Given the description of an element on the screen output the (x, y) to click on. 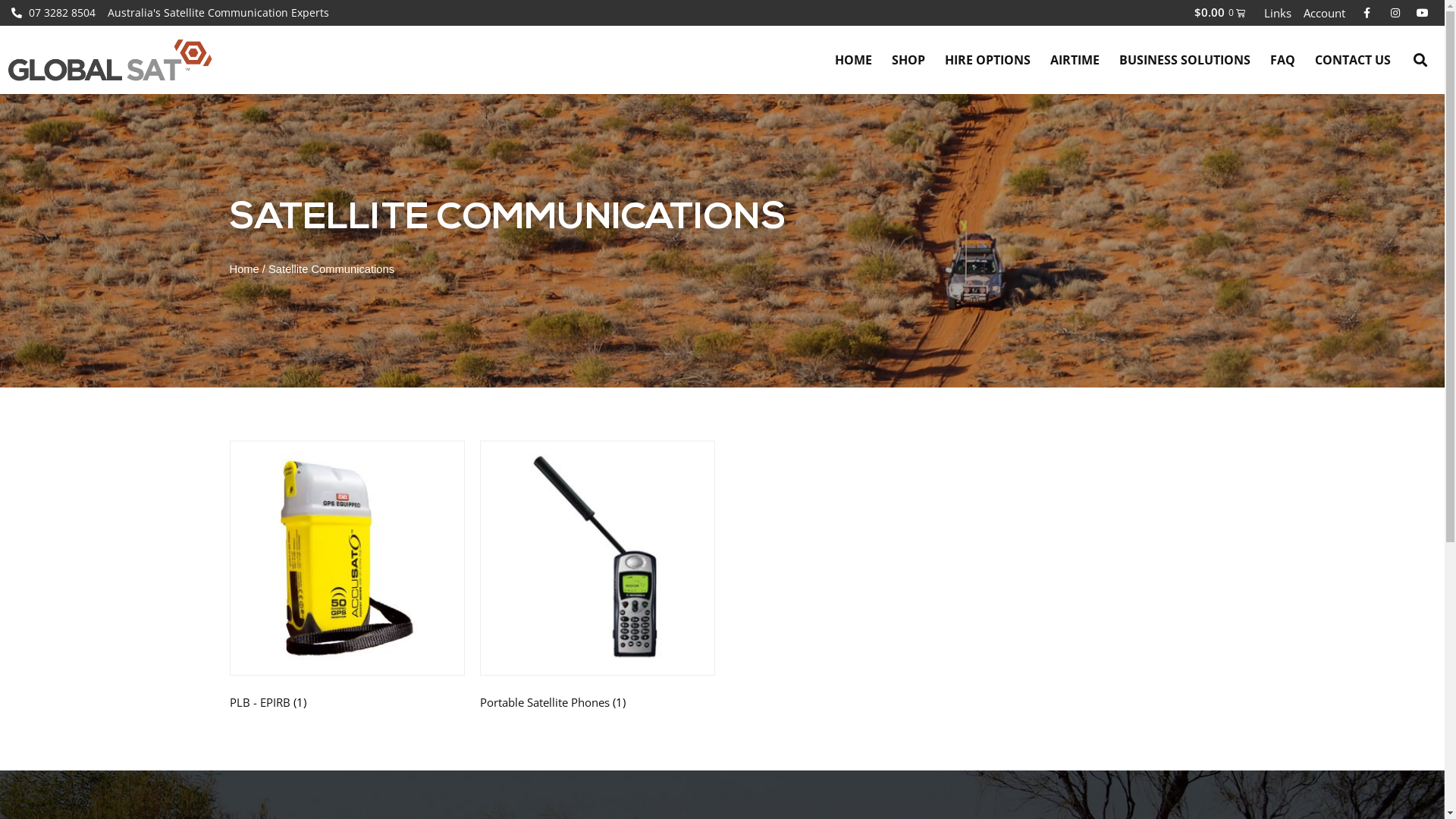
Links Element type: text (1277, 12)
BUSINESS SOLUTIONS Element type: text (1184, 59)
07 3282 8504 Element type: text (53, 12)
CONTACT US Element type: text (1352, 59)
Home Element type: text (243, 269)
HIRE OPTIONS Element type: text (987, 59)
PLB - EPIRB (1) Element type: text (346, 578)
$0.00
0 Element type: text (1219, 12)
HOME Element type: text (853, 59)
AIRTIME Element type: text (1074, 59)
Portable Satellite Phones (1) Element type: text (596, 578)
FAQ Element type: text (1282, 59)
SHOP Element type: text (908, 59)
Account Element type: text (1324, 12)
